Given the description of an element on the screen output the (x, y) to click on. 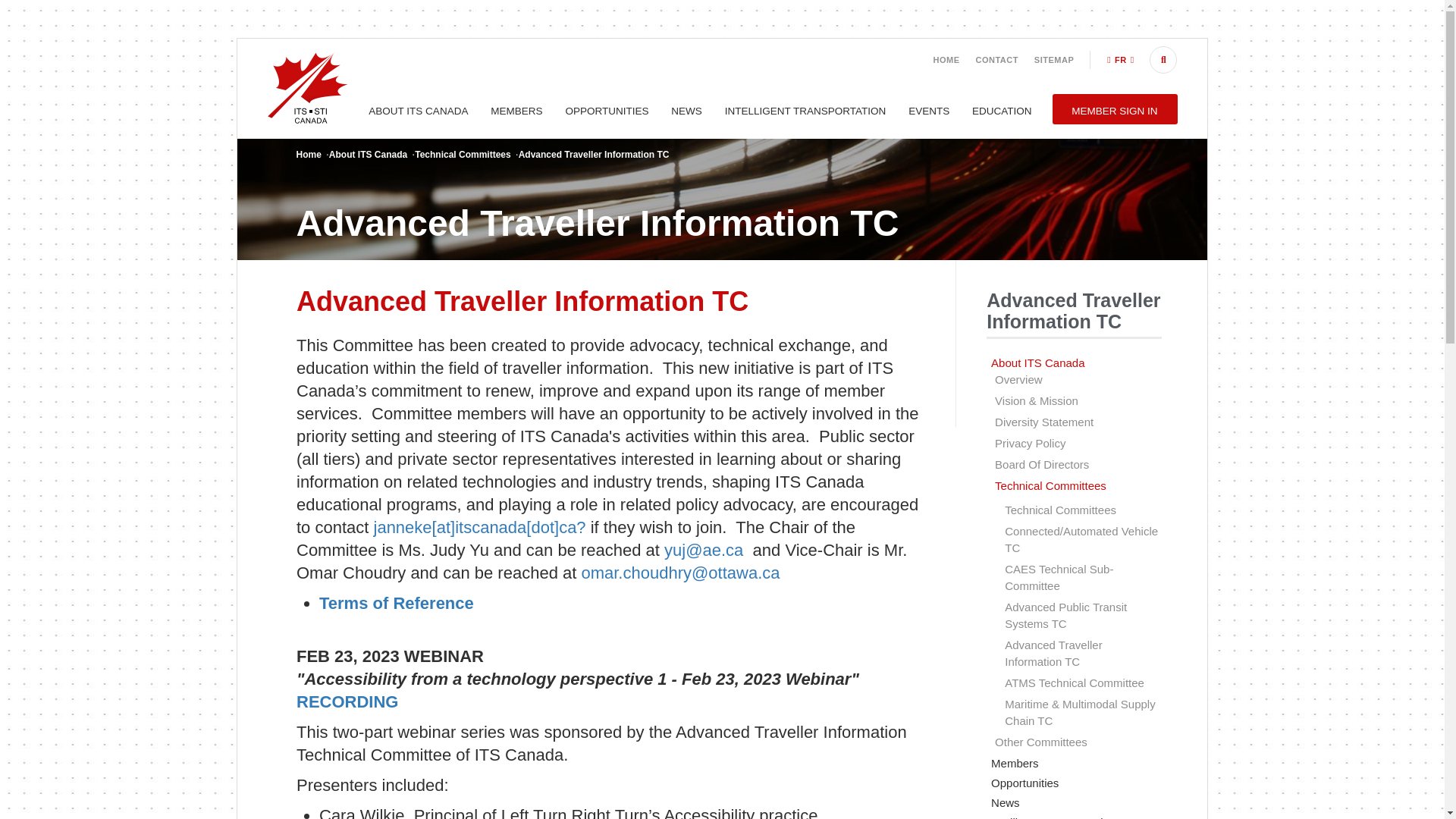
FR (1120, 59)
INTELLIGENT TRANSPORTATION (805, 110)
HOME (946, 59)
OPPORTUNITIES (606, 110)
MEMBERS (515, 110)
CONTACT (996, 59)
ABOUT ITS CANADA (418, 110)
SITEMAP (1053, 59)
NEWS (686, 110)
